Given the description of an element on the screen output the (x, y) to click on. 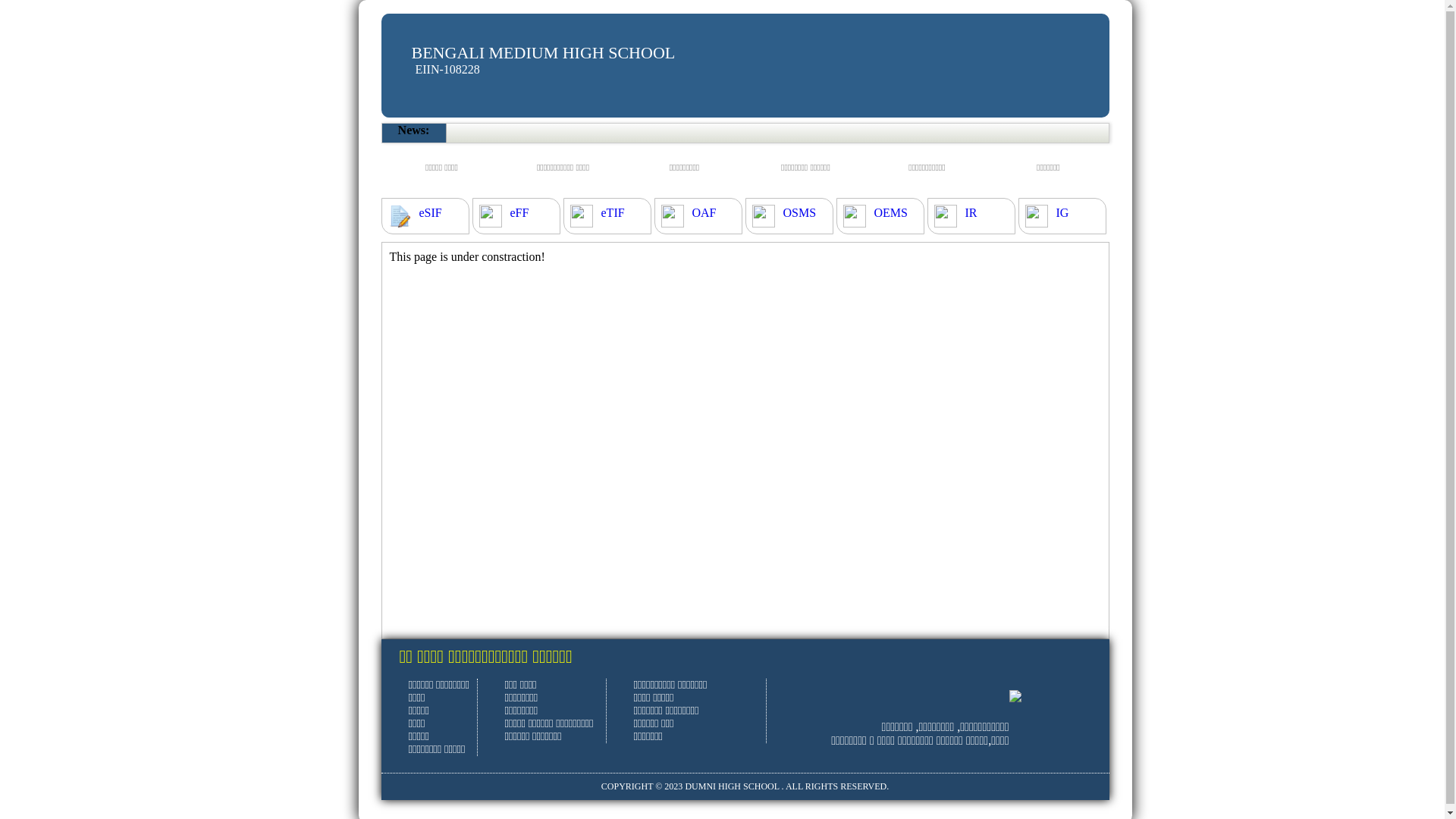
eFF Element type: text (518, 212)
IG Element type: text (1061, 212)
OSMS Element type: text (798, 212)
eSIF Element type: text (429, 212)
eTIF Element type: text (612, 212)
DUMNI HIGH SCHOOL Element type: text (731, 786)
OAF Element type: text (703, 212)
IR Element type: text (970, 212)
OEMS Element type: text (889, 212)
